Given the description of an element on the screen output the (x, y) to click on. 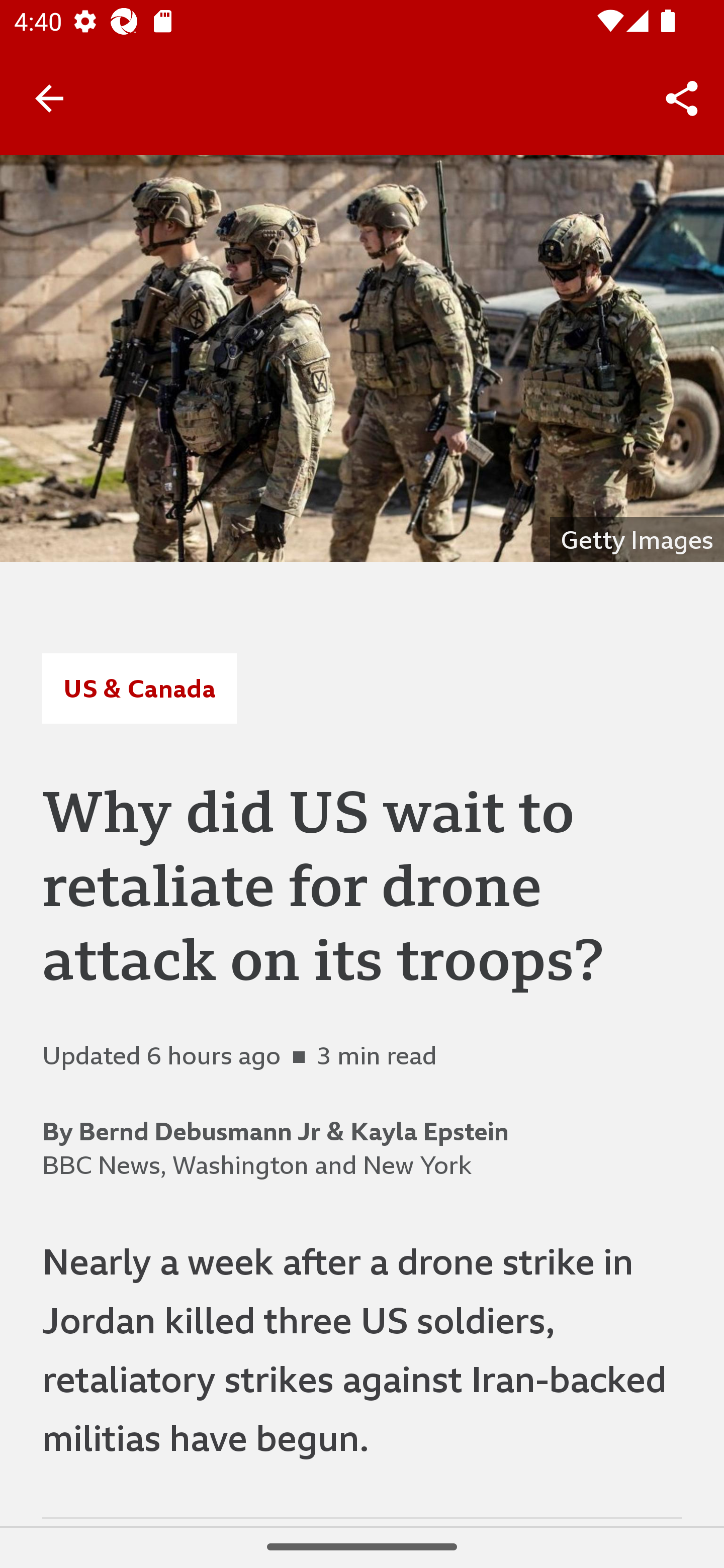
Back (49, 97)
Share (681, 98)
US troops in Syria in January (362, 358)
US & Canada (138, 688)
